Given the description of an element on the screen output the (x, y) to click on. 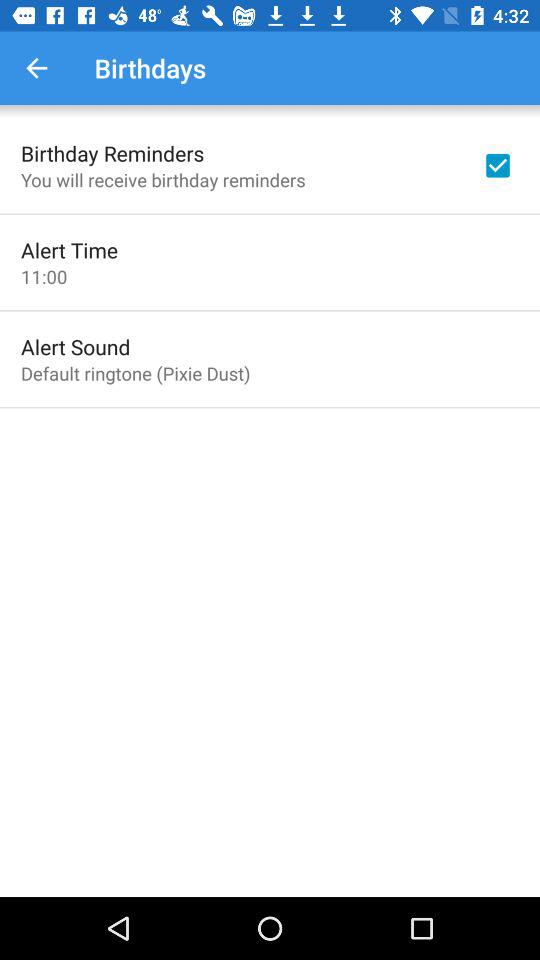
open the icon below the you will receive (69, 249)
